Given the description of an element on the screen output the (x, y) to click on. 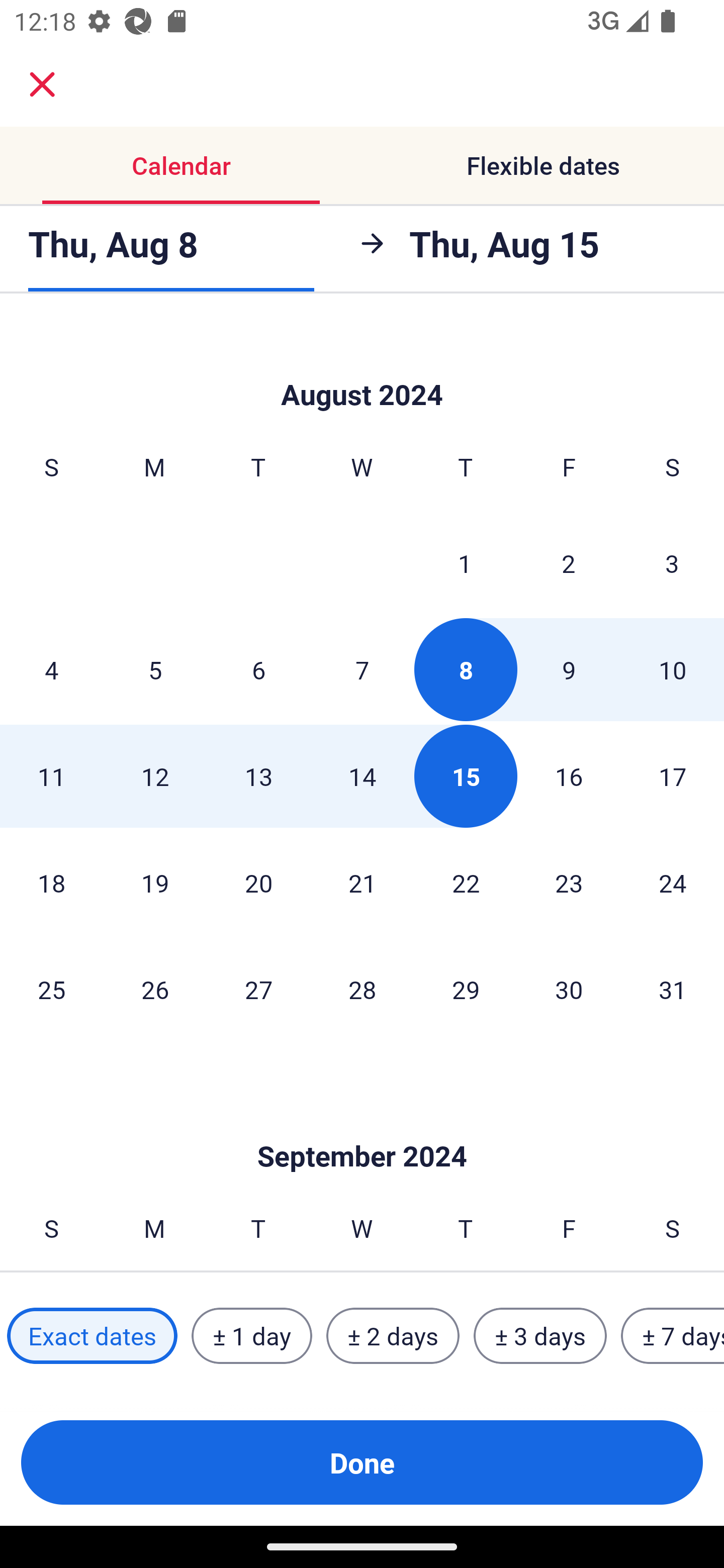
close. (42, 84)
Flexible dates (542, 164)
Skip to Done (362, 365)
1 Thursday, August 1, 2024 (464, 562)
2 Friday, August 2, 2024 (568, 562)
3 Saturday, August 3, 2024 (672, 562)
4 Sunday, August 4, 2024 (51, 669)
5 Monday, August 5, 2024 (155, 669)
6 Tuesday, August 6, 2024 (258, 669)
7 Wednesday, August 7, 2024 (362, 669)
16 Friday, August 16, 2024 (569, 775)
17 Saturday, August 17, 2024 (672, 775)
18 Sunday, August 18, 2024 (51, 882)
19 Monday, August 19, 2024 (155, 882)
20 Tuesday, August 20, 2024 (258, 882)
21 Wednesday, August 21, 2024 (362, 882)
22 Thursday, August 22, 2024 (465, 882)
23 Friday, August 23, 2024 (569, 882)
24 Saturday, August 24, 2024 (672, 882)
25 Sunday, August 25, 2024 (51, 989)
26 Monday, August 26, 2024 (155, 989)
27 Tuesday, August 27, 2024 (258, 989)
28 Wednesday, August 28, 2024 (362, 989)
29 Thursday, August 29, 2024 (465, 989)
30 Friday, August 30, 2024 (569, 989)
31 Saturday, August 31, 2024 (672, 989)
Skip to Done (362, 1125)
Exact dates (92, 1335)
± 1 day (251, 1335)
± 2 days (392, 1335)
± 3 days (539, 1335)
± 7 days (672, 1335)
Done (361, 1462)
